Given the description of an element on the screen output the (x, y) to click on. 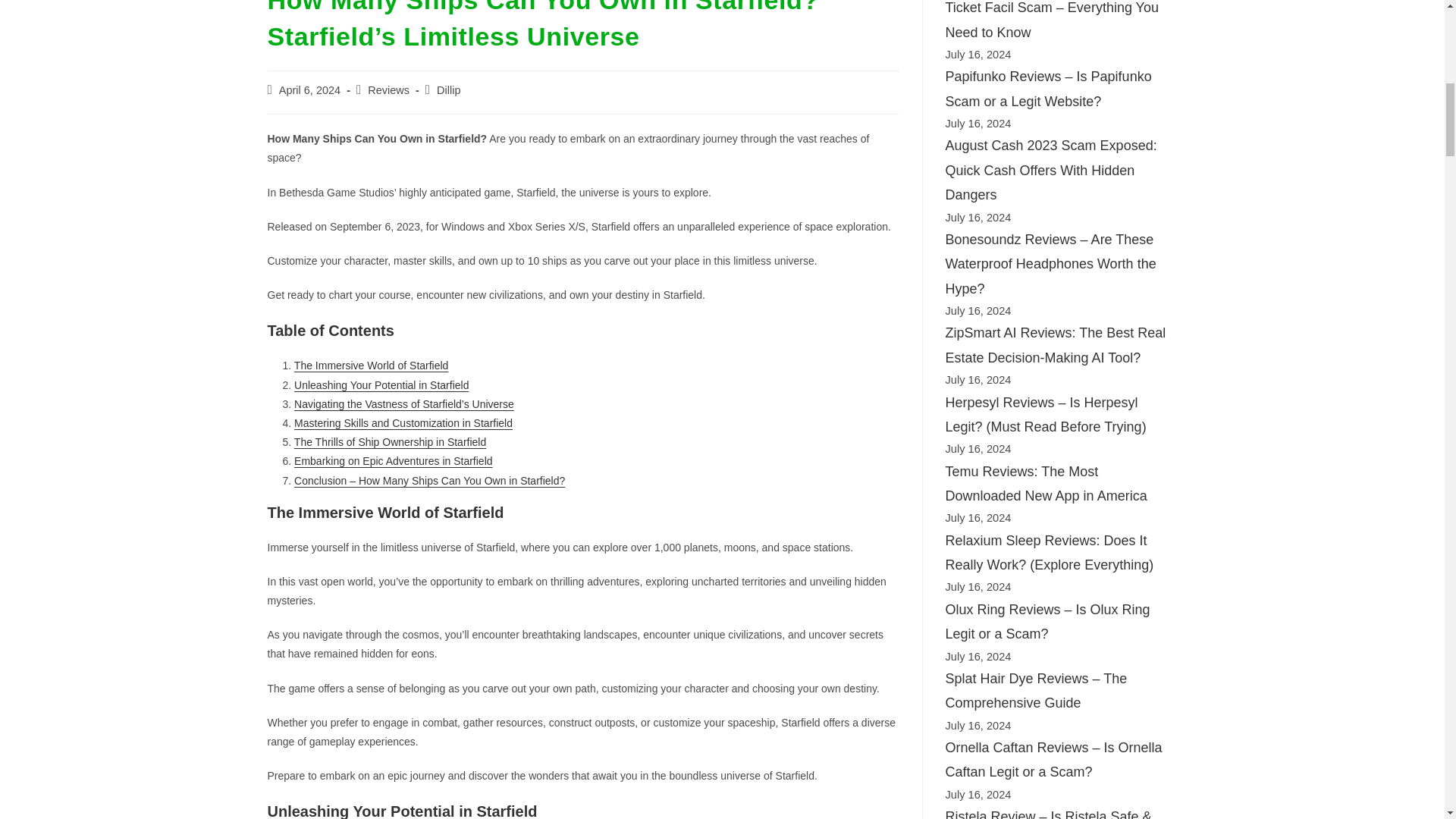
Dillip (448, 89)
The Thrills of Ship Ownership in Starfield (390, 441)
Mastering Skills and Customization in Starfield (403, 422)
Posts by Dillip (448, 89)
The Immersive World of Starfield (371, 365)
Reviews (388, 89)
Embarking on Epic Adventures in Starfield (393, 460)
Unleashing Your Potential in Starfield (381, 385)
